Given the description of an element on the screen output the (x, y) to click on. 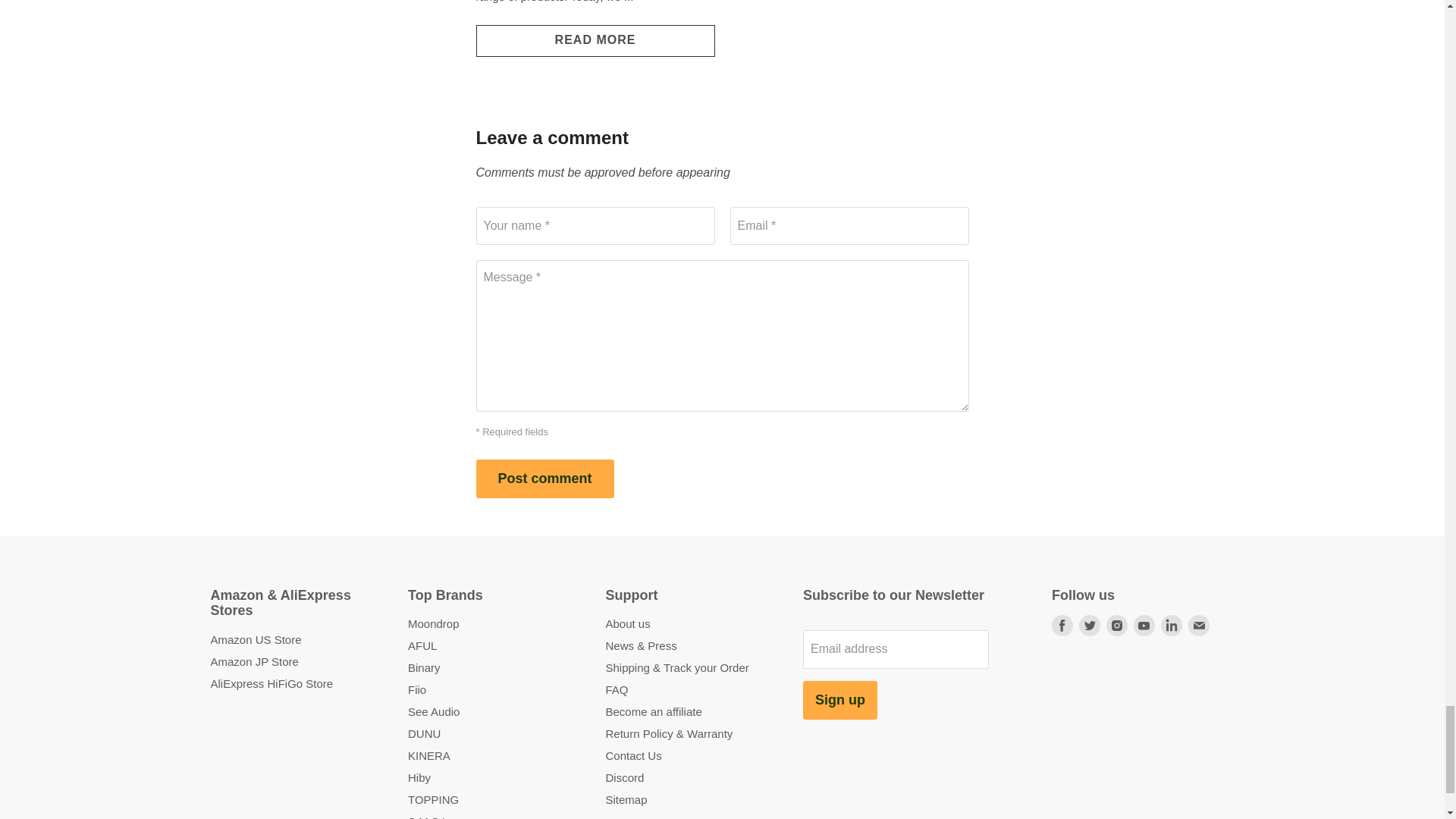
LinkedIn (1171, 625)
Instagram (1117, 625)
Twitter (1089, 625)
Facebook (1061, 625)
E-mail (1198, 625)
Youtube (1144, 625)
